Given the description of an element on the screen output the (x, y) to click on. 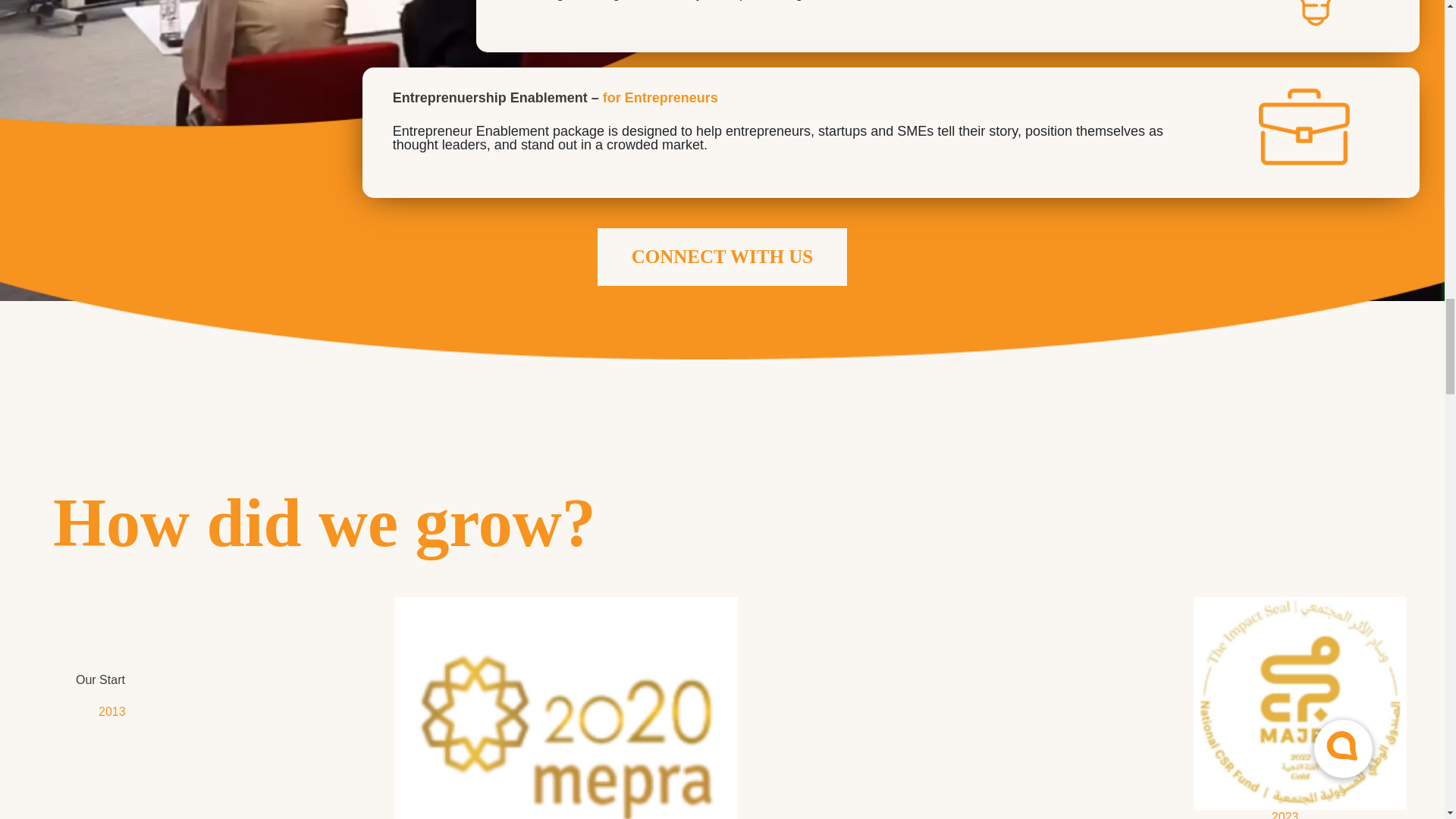
CONNECT WITH US (721, 256)
